Given the description of an element on the screen output the (x, y) to click on. 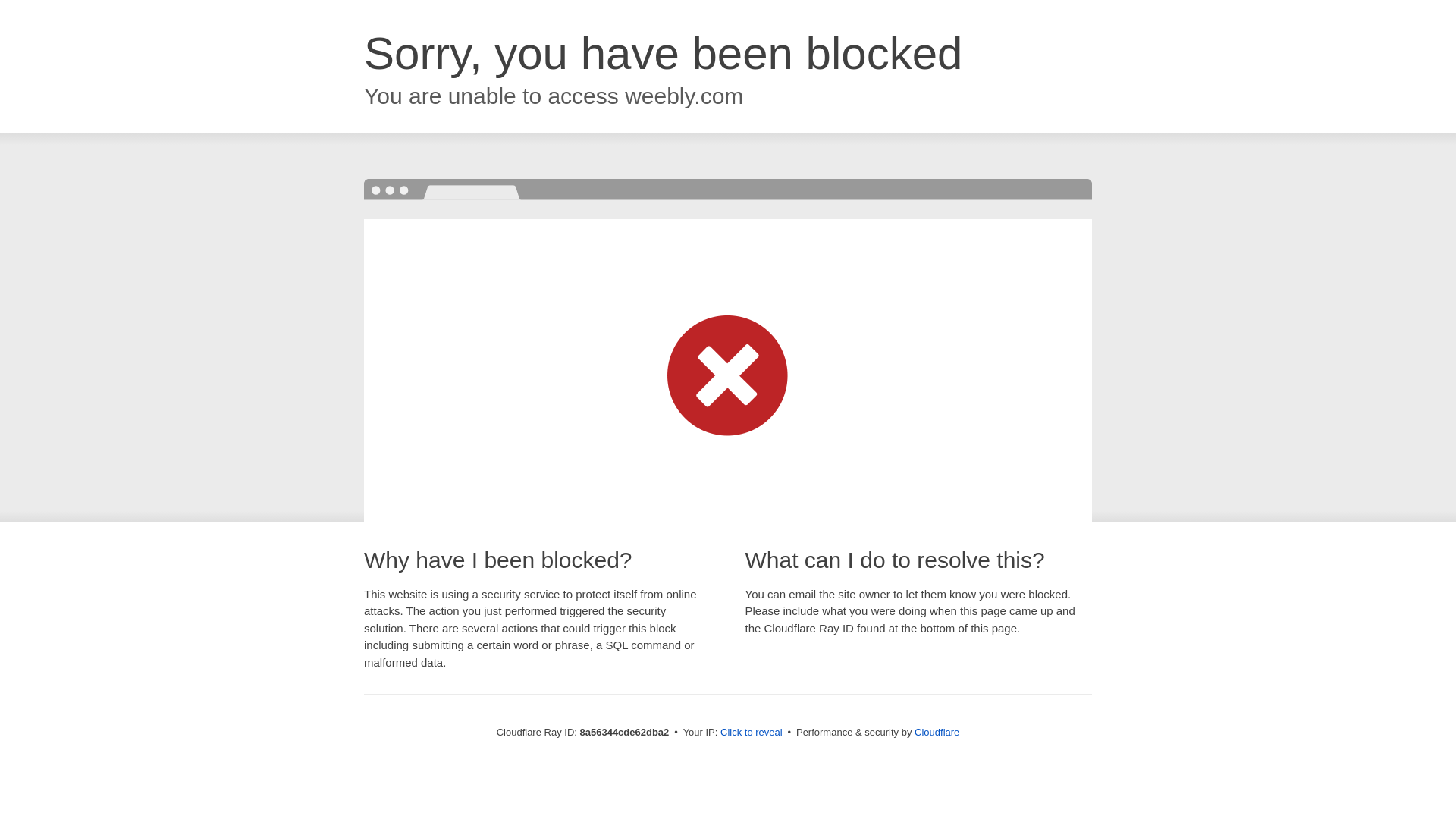
Cloudflare (936, 731)
Click to reveal (751, 732)
